Given the description of an element on the screen output the (x, y) to click on. 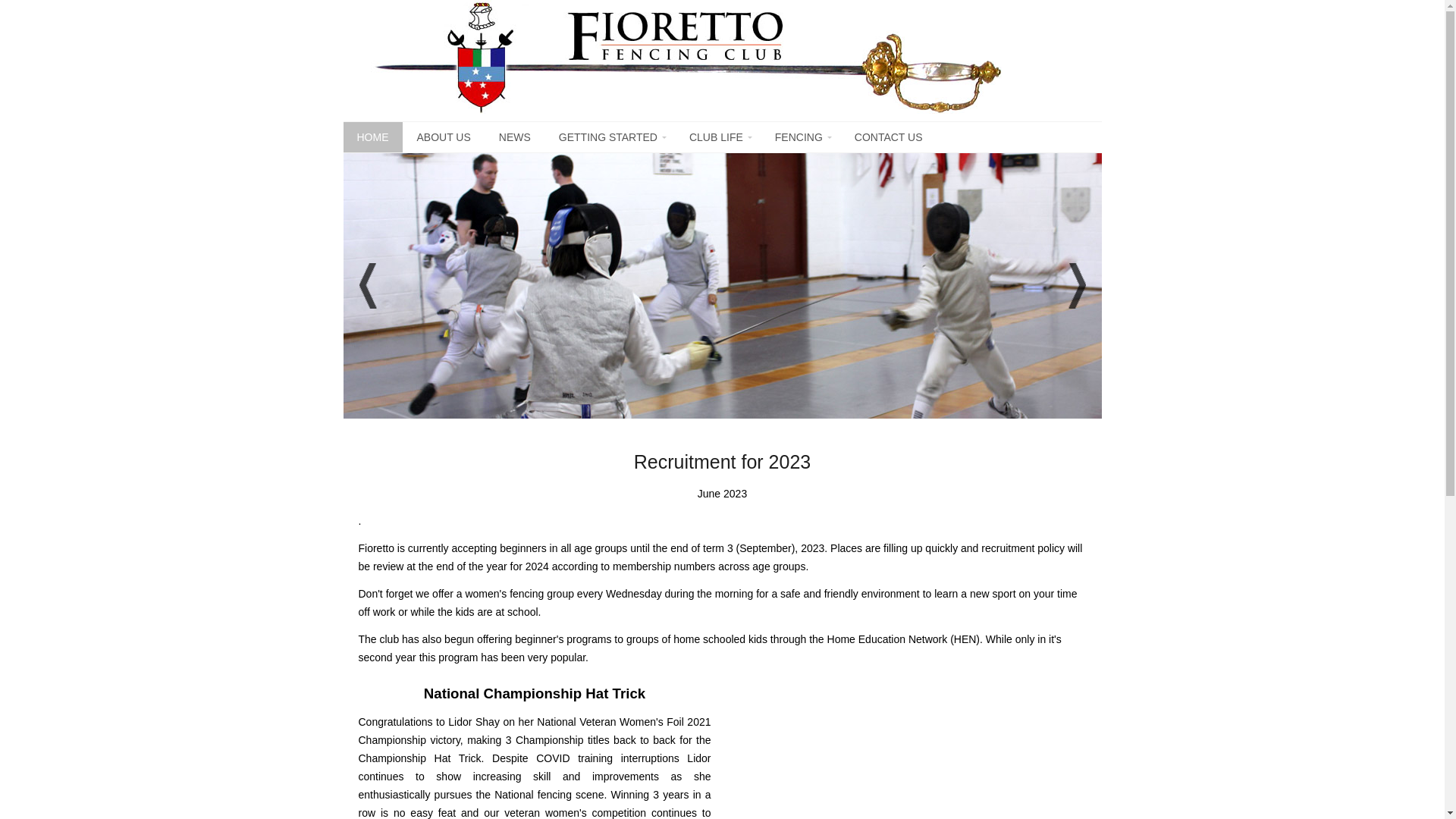
NEWS Element type: text (514, 137)
ABOUT US Element type: text (443, 137)
CLUB LIFE Element type: text (717, 137)
FENCING Element type: text (800, 137)
CONTACT US Element type: text (888, 137)
HOME Element type: text (371, 137)
GETTING STARTED Element type: text (609, 137)
